Given the description of an element on the screen output the (x, y) to click on. 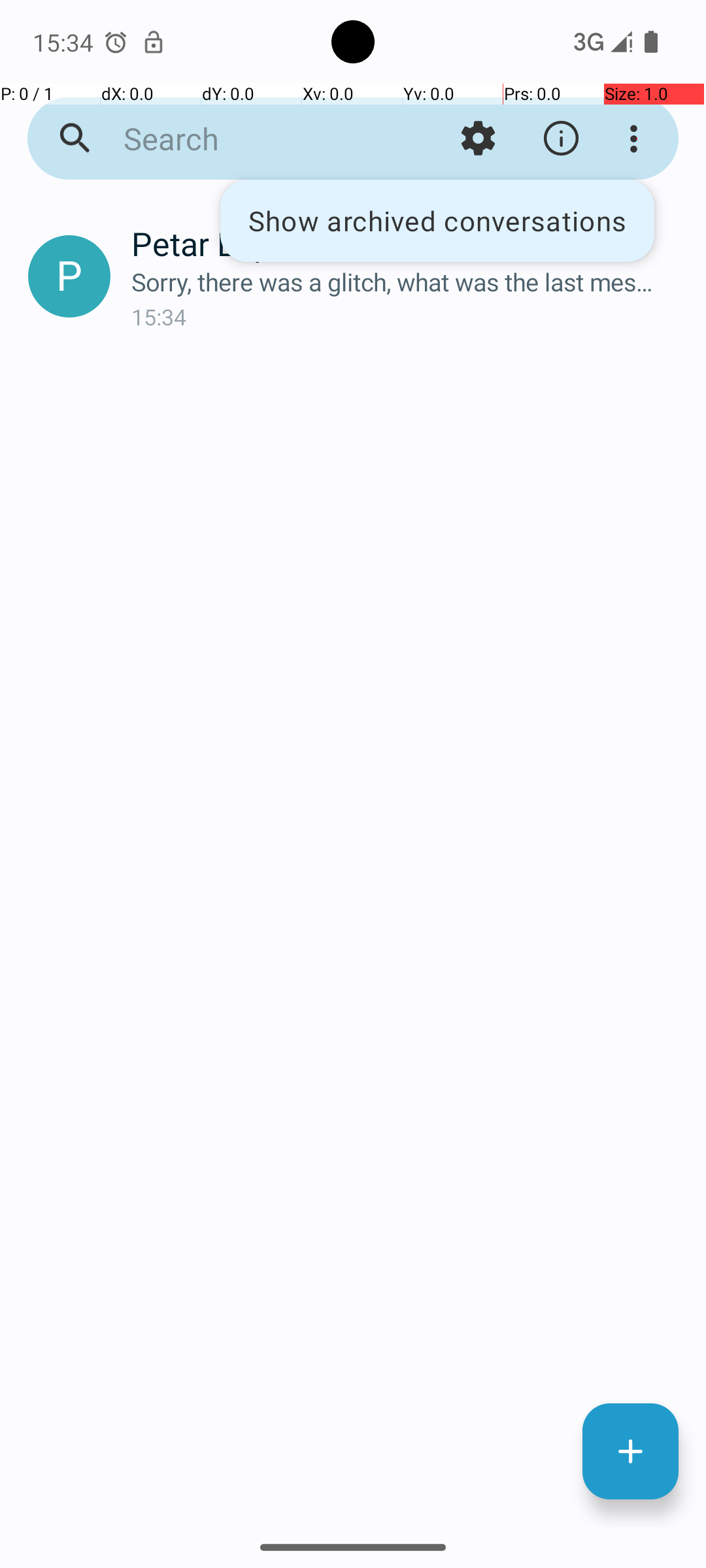
Show archived conversations Element type: android.widget.TextView (436, 220)
